Given the description of an element on the screen output the (x, y) to click on. 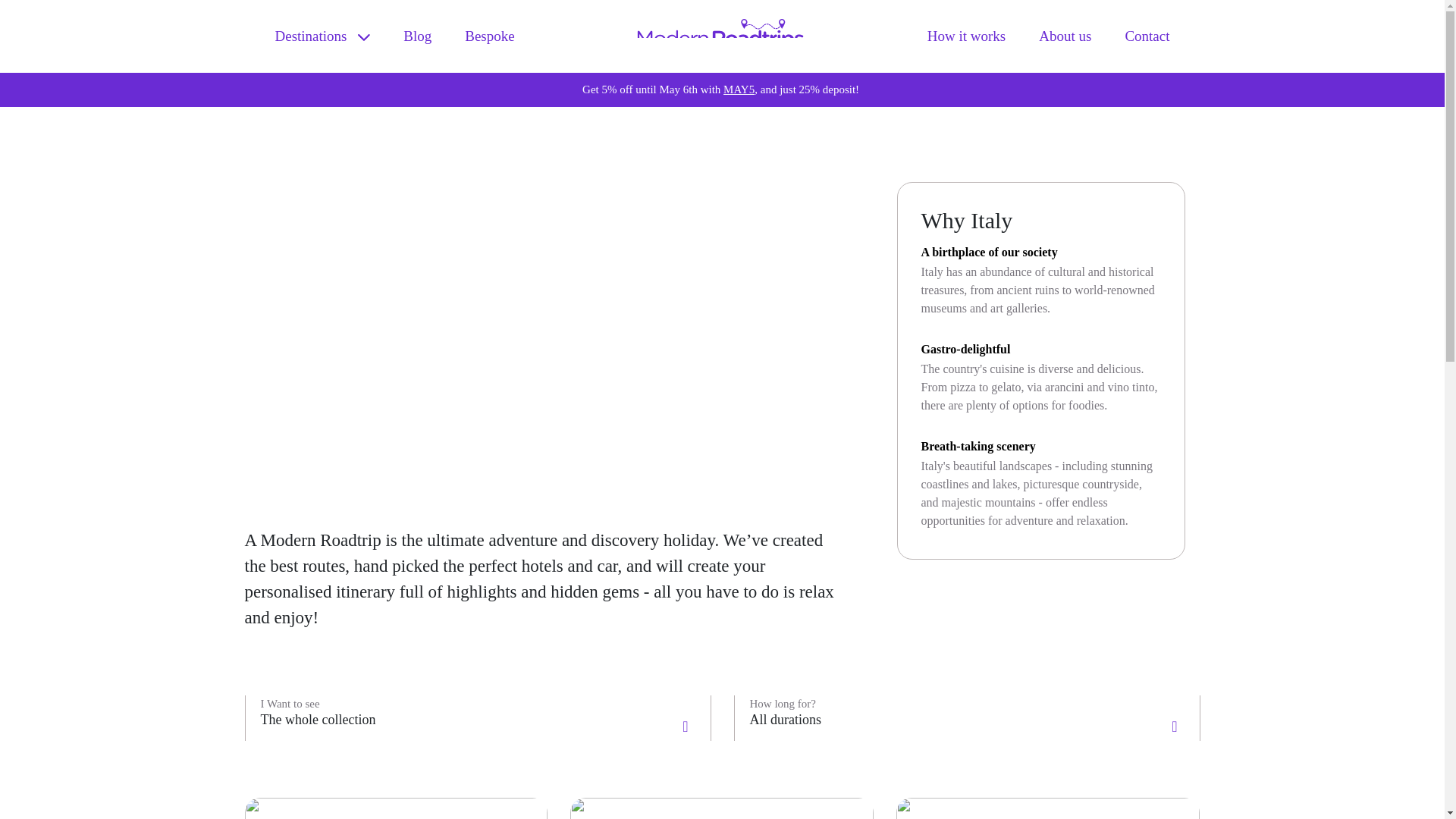
Contact (1146, 36)
About us (1064, 36)
Destinations (322, 36)
Bespoke (488, 36)
Blog (416, 36)
How it works (966, 36)
